Given the description of an element on the screen output the (x, y) to click on. 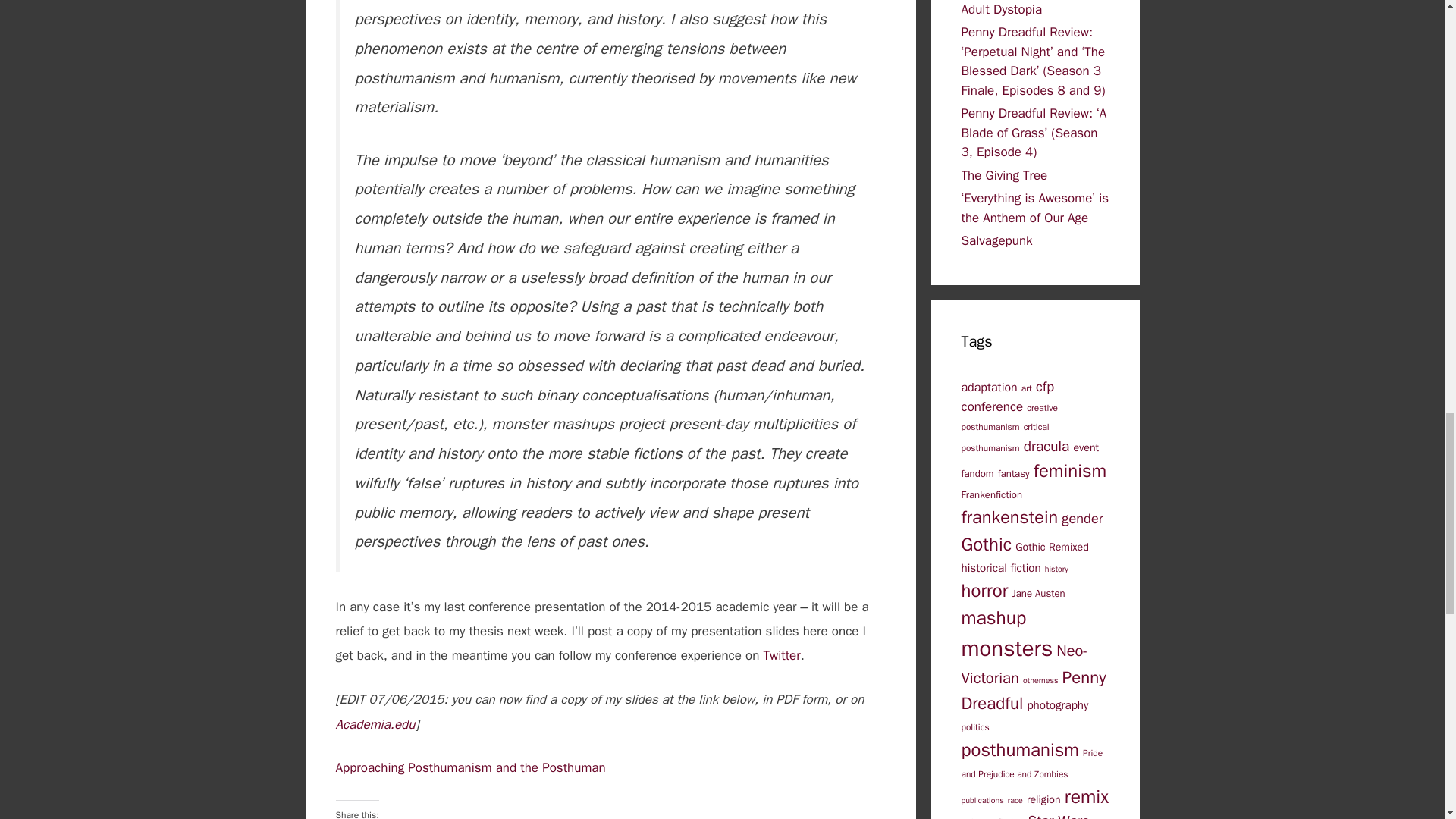
Twitter (780, 655)
Academia.edu (374, 723)
Approaching Posthumanism and the Posthuman (469, 767)
